Given the description of an element on the screen output the (x, y) to click on. 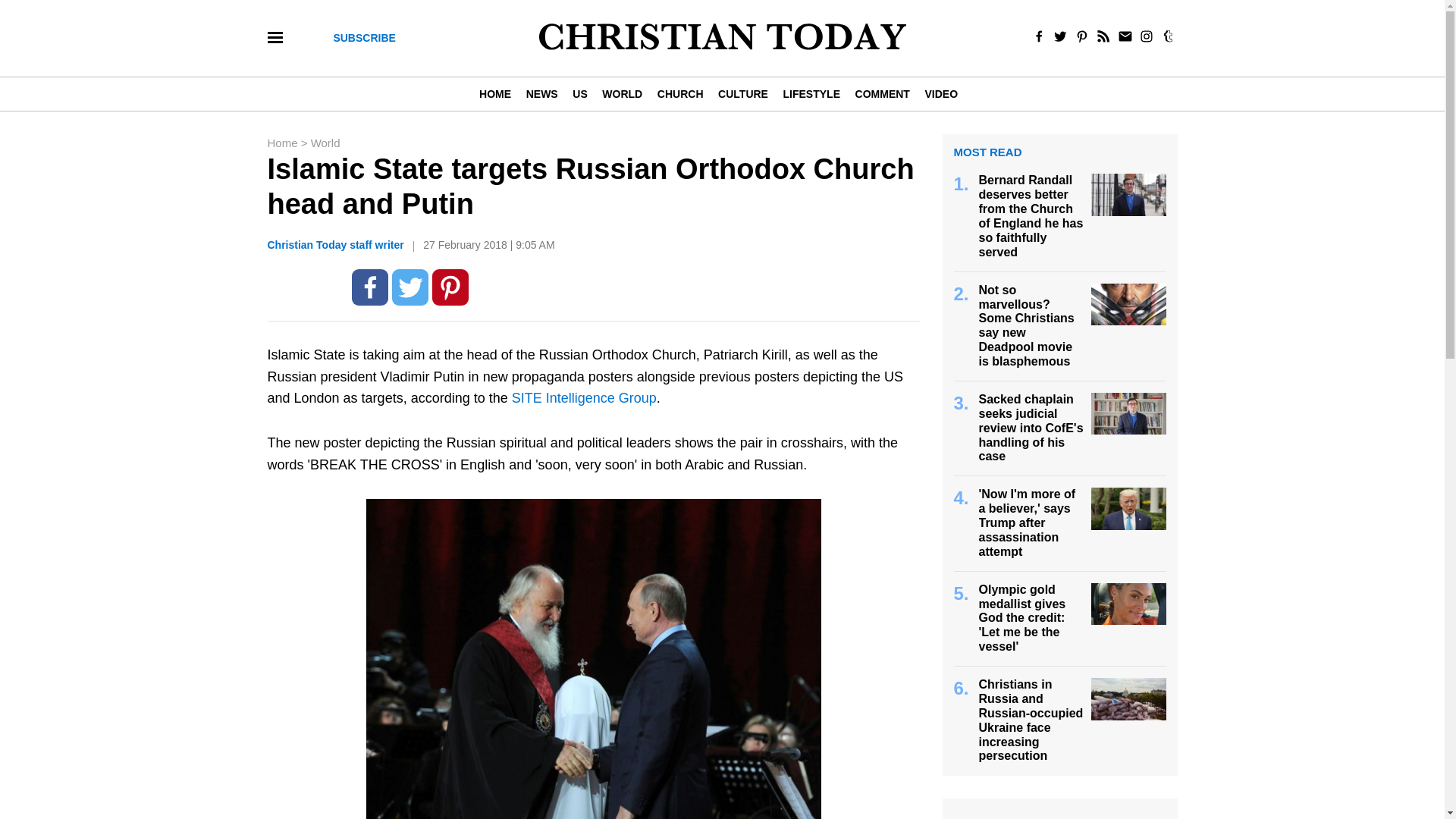
NEWS (542, 93)
HOME (498, 93)
COMMENT (882, 93)
LIFESTYLE (811, 93)
WORLD (622, 93)
CHURCH (679, 93)
VIDEO (941, 93)
SUBSCRIBE (363, 37)
CULTURE (742, 93)
